Given the description of an element on the screen output the (x, y) to click on. 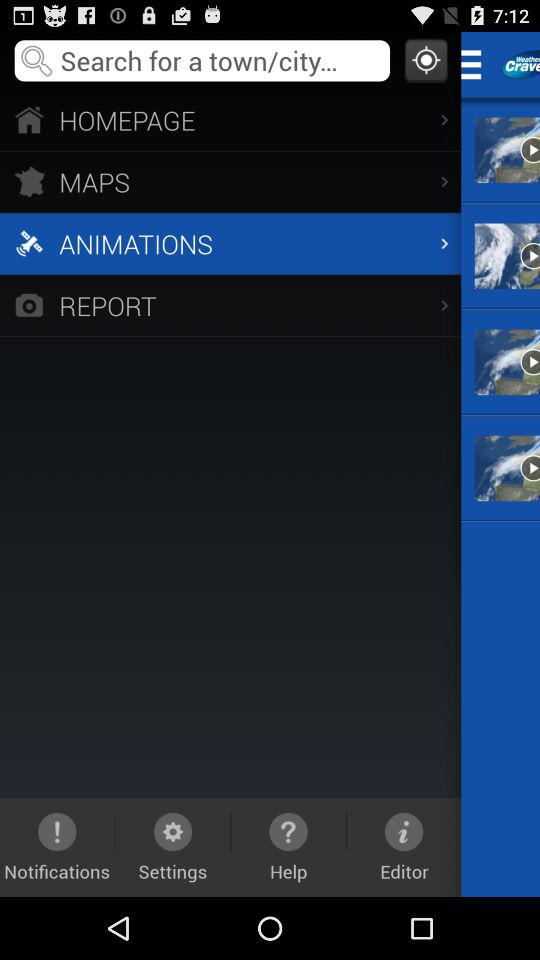
turn on the icon above maps icon (230, 119)
